Given the description of an element on the screen output the (x, y) to click on. 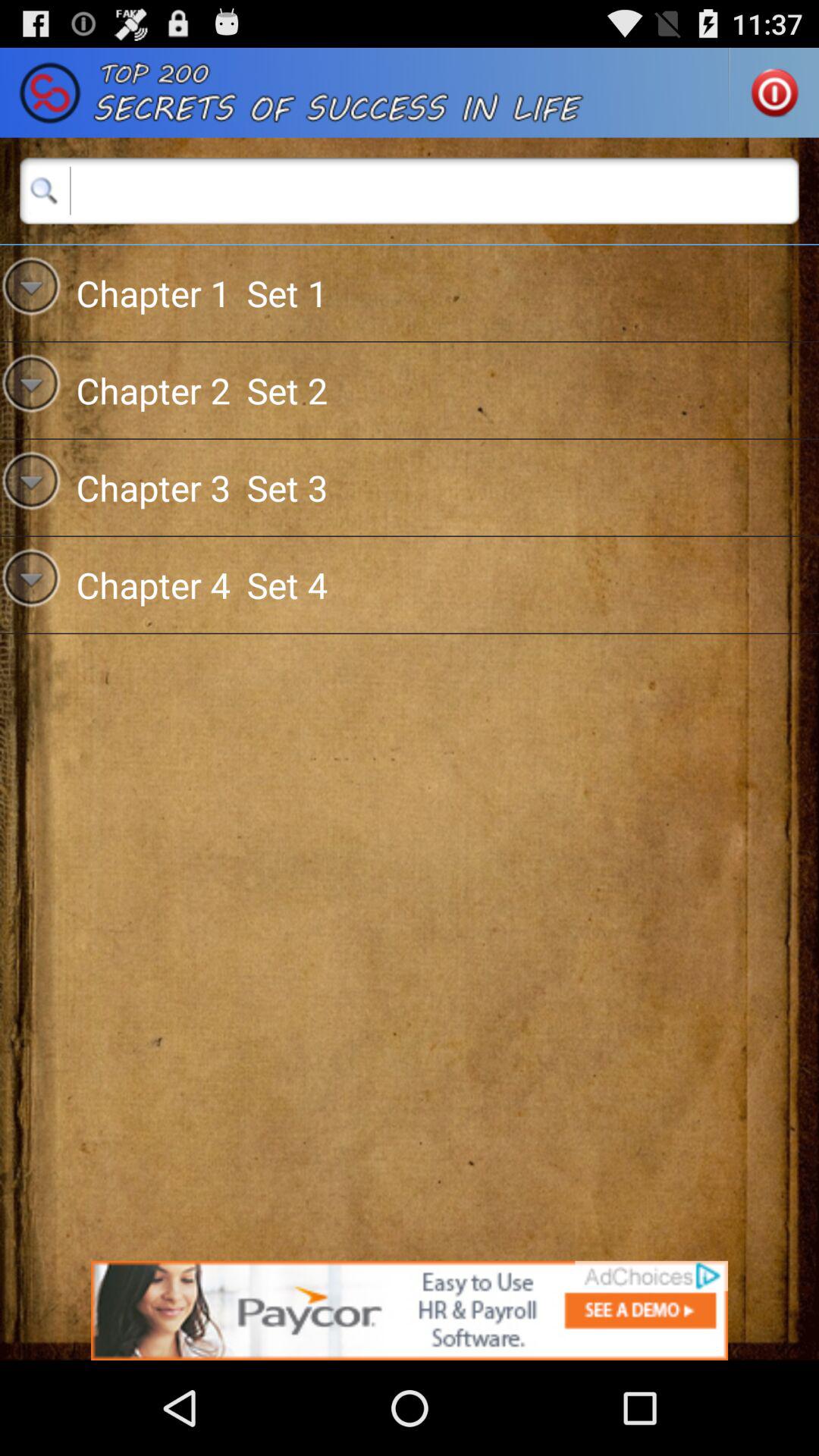
follow the banner (409, 1310)
